Given the description of an element on the screen output the (x, y) to click on. 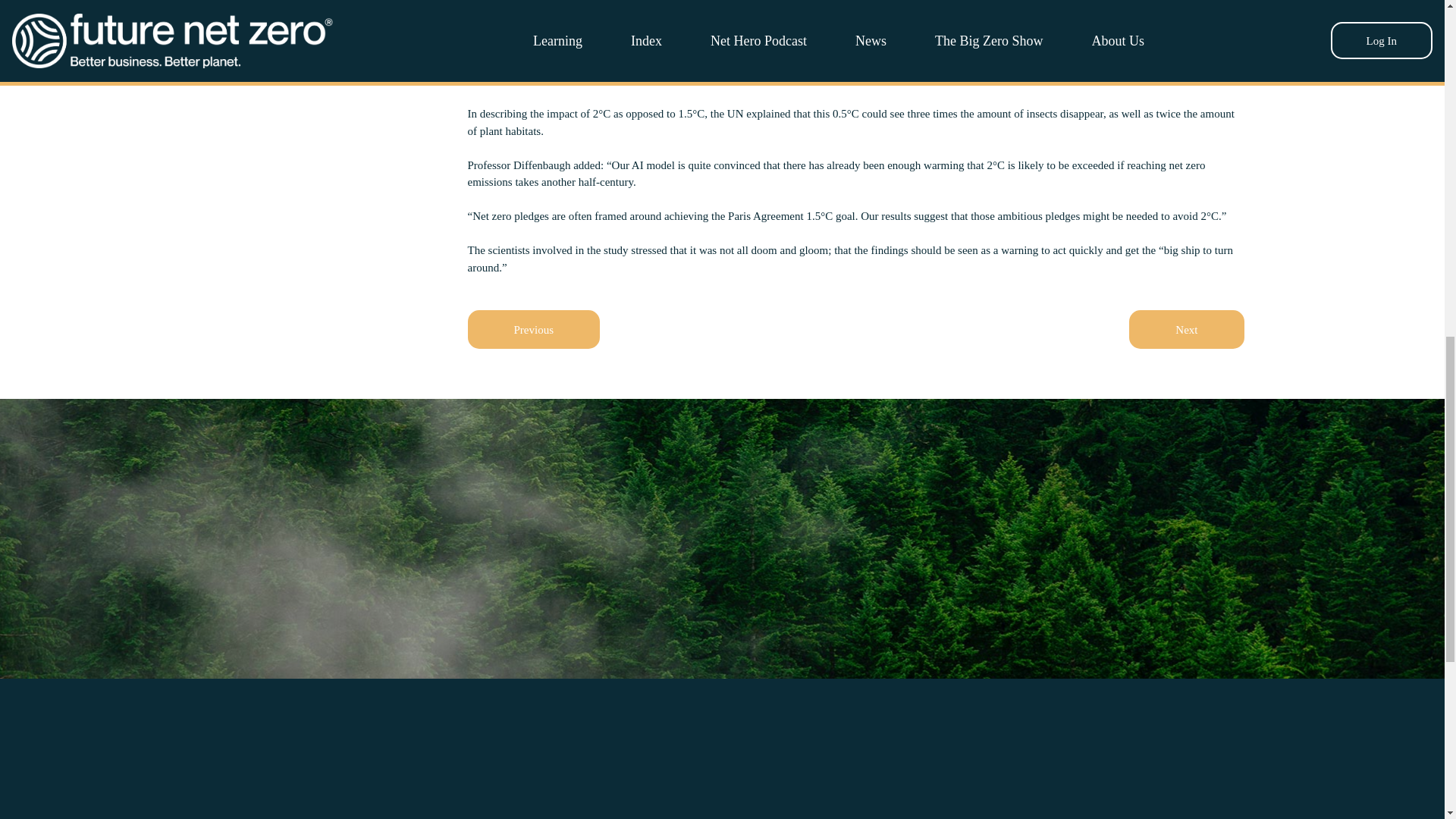
tipping point (981, 45)
Previous (533, 329)
Next (1186, 329)
